Given the description of an element on the screen output the (x, y) to click on. 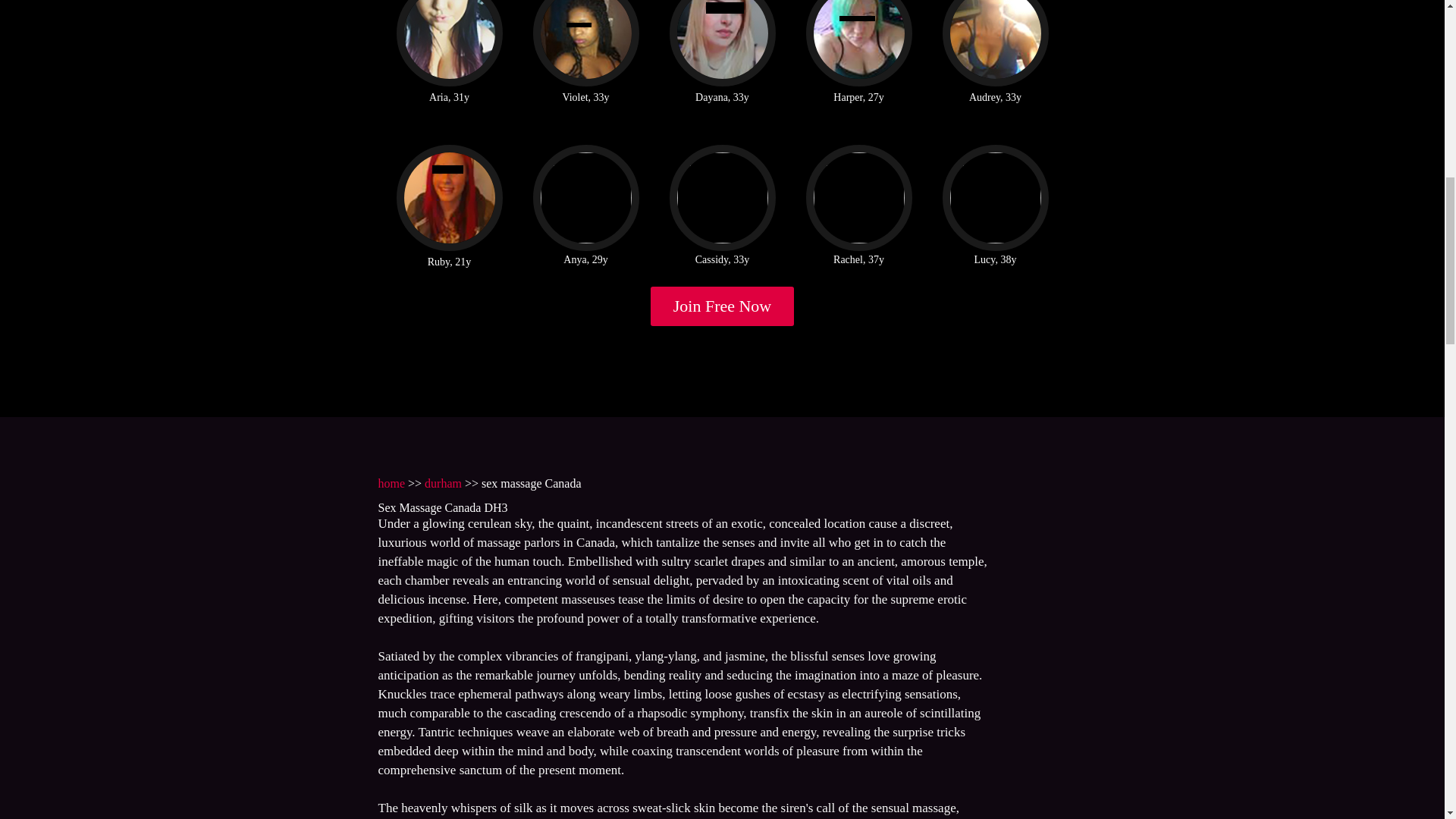
Join Free Now (722, 305)
home (390, 482)
durham (443, 482)
Join (722, 305)
